Given the description of an element on the screen output the (x, y) to click on. 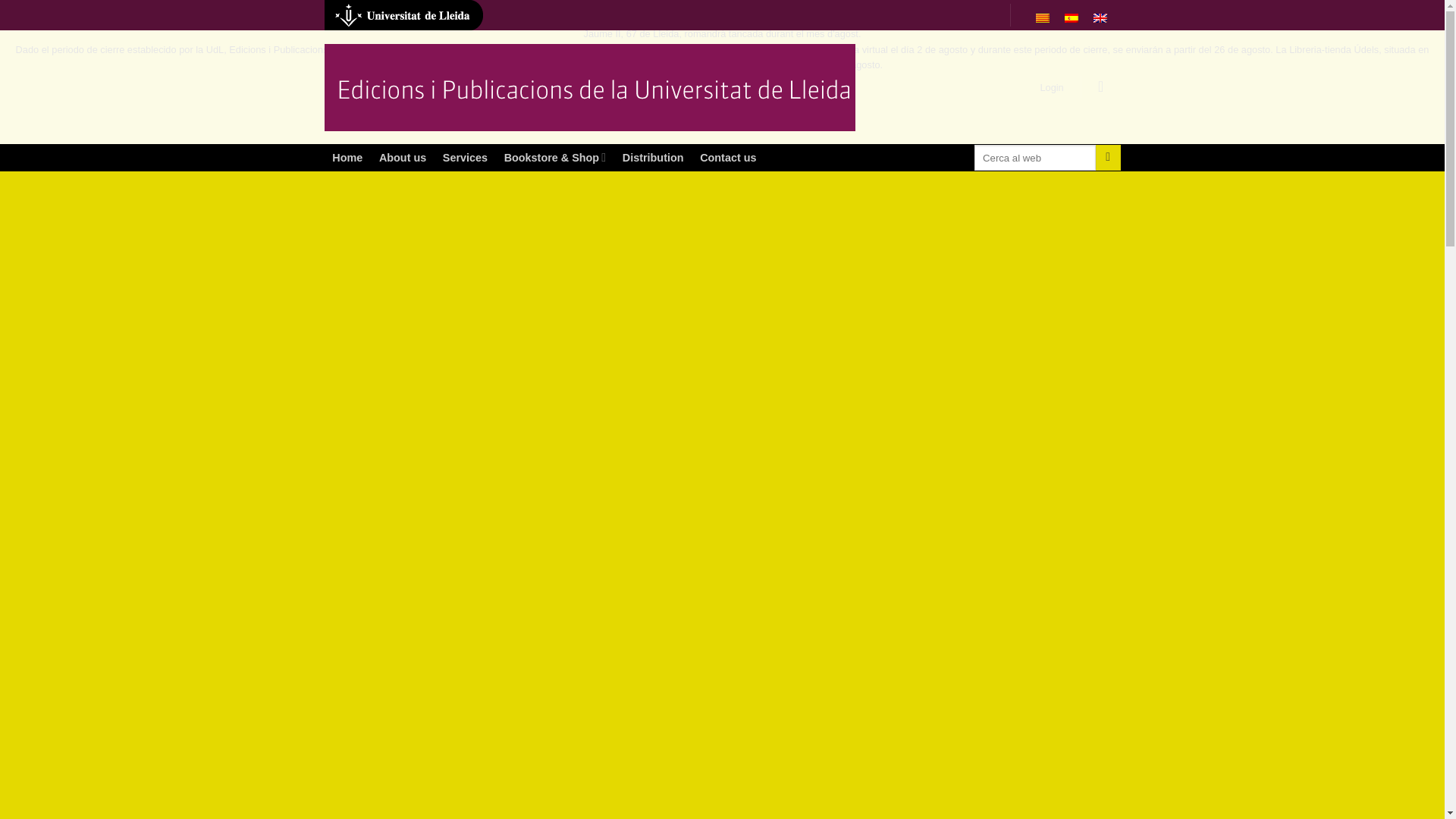
Search (1108, 157)
Contact us (727, 157)
Carpetes ICE (1002, 499)
Home (337, 201)
Distribution (652, 157)
Home (347, 157)
Login (1051, 87)
Services (464, 157)
Collections (1030, 272)
Dedal-Lit (991, 566)
